Given the description of an element on the screen output the (x, y) to click on. 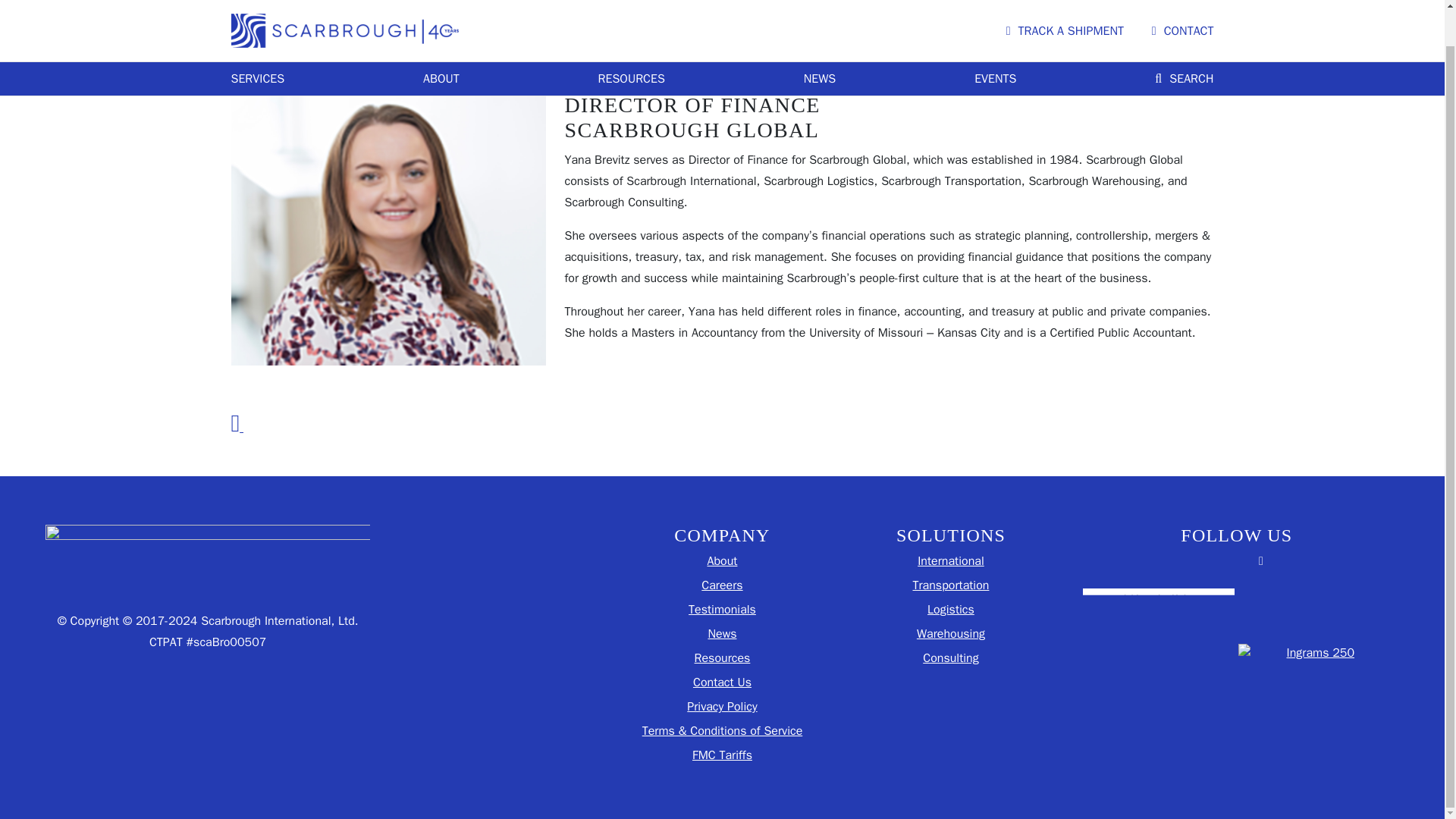
SERVICES (256, 41)
SEARCH (1183, 41)
ABOUT (441, 41)
CONTACT (1182, 0)
Scarbrough Global (344, 2)
RESOURCES (631, 41)
EVENTS (995, 41)
NEWS (819, 41)
TRACK A SHIPMENT (1065, 0)
